Given the description of an element on the screen output the (x, y) to click on. 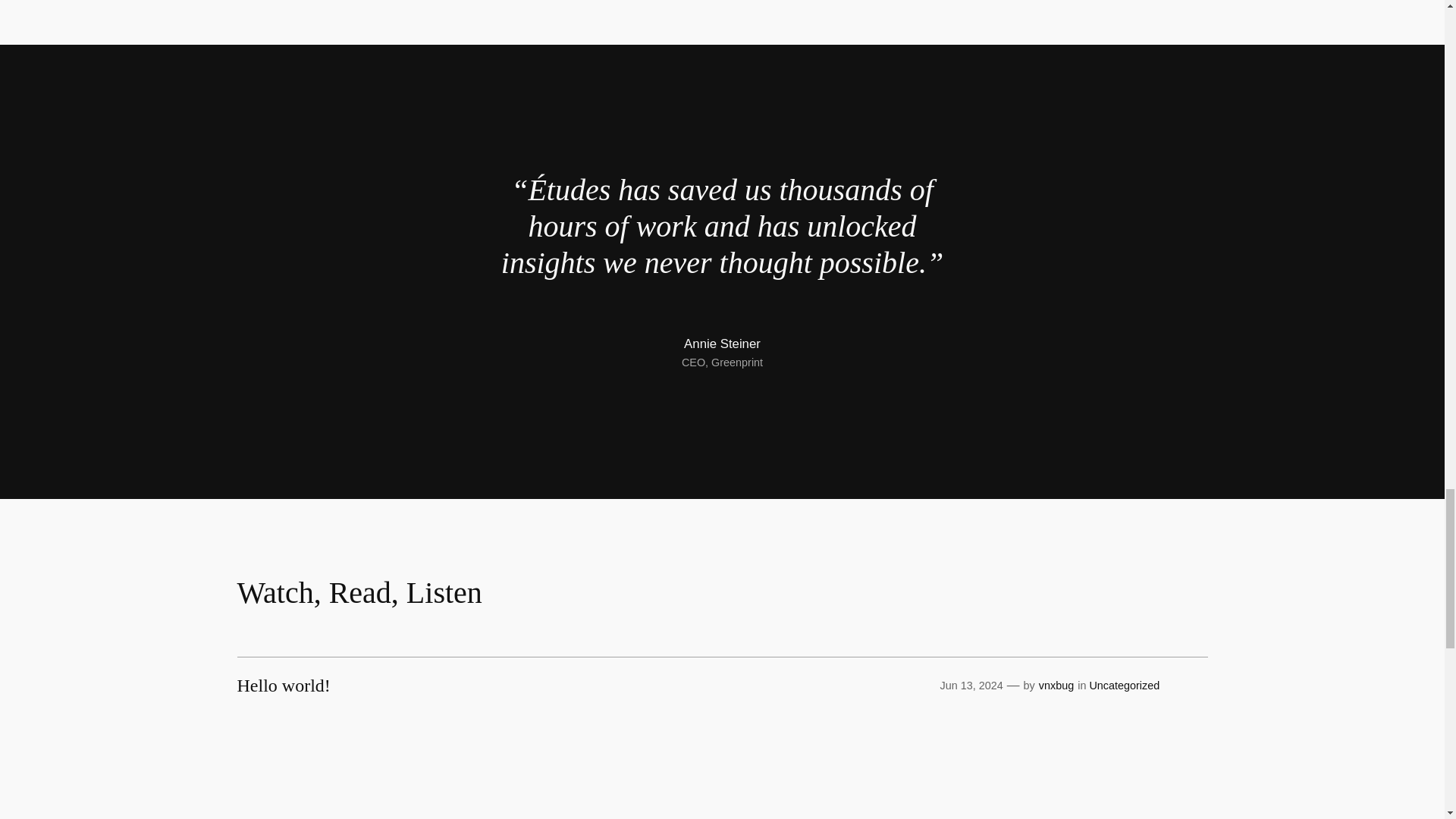
vnxbug (1056, 685)
Jun 13, 2024 (971, 685)
Hello world! (282, 685)
Uncategorized (1123, 685)
